Given the description of an element on the screen output the (x, y) to click on. 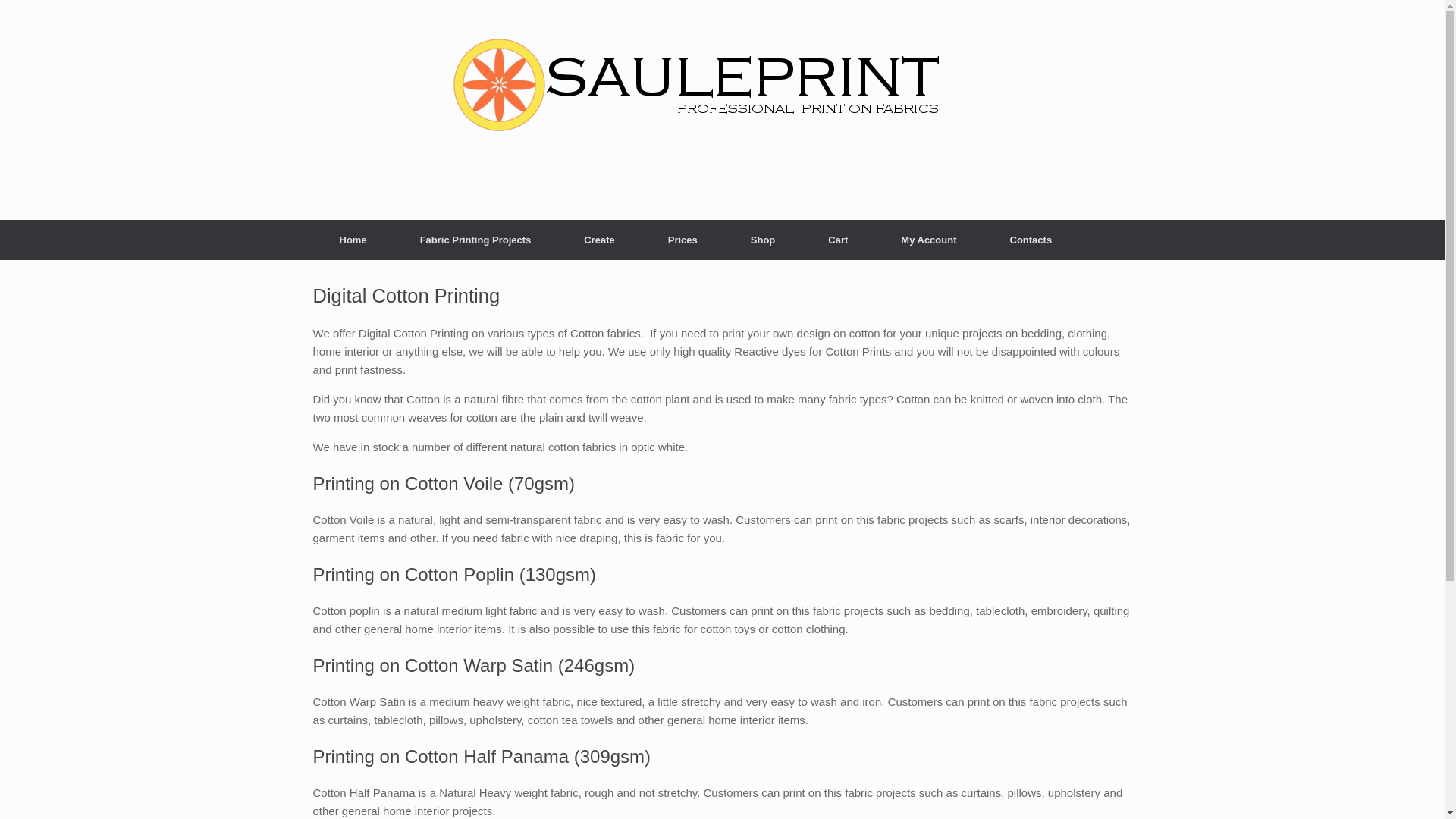
Fabric Printing Projects (475, 240)
Home (353, 240)
Prices (682, 240)
www.sauleprint.com (691, 109)
My Account (928, 240)
Contacts (1031, 240)
Cart (838, 240)
Shop (762, 240)
Create (598, 240)
